Given the description of an element on the screen output the (x, y) to click on. 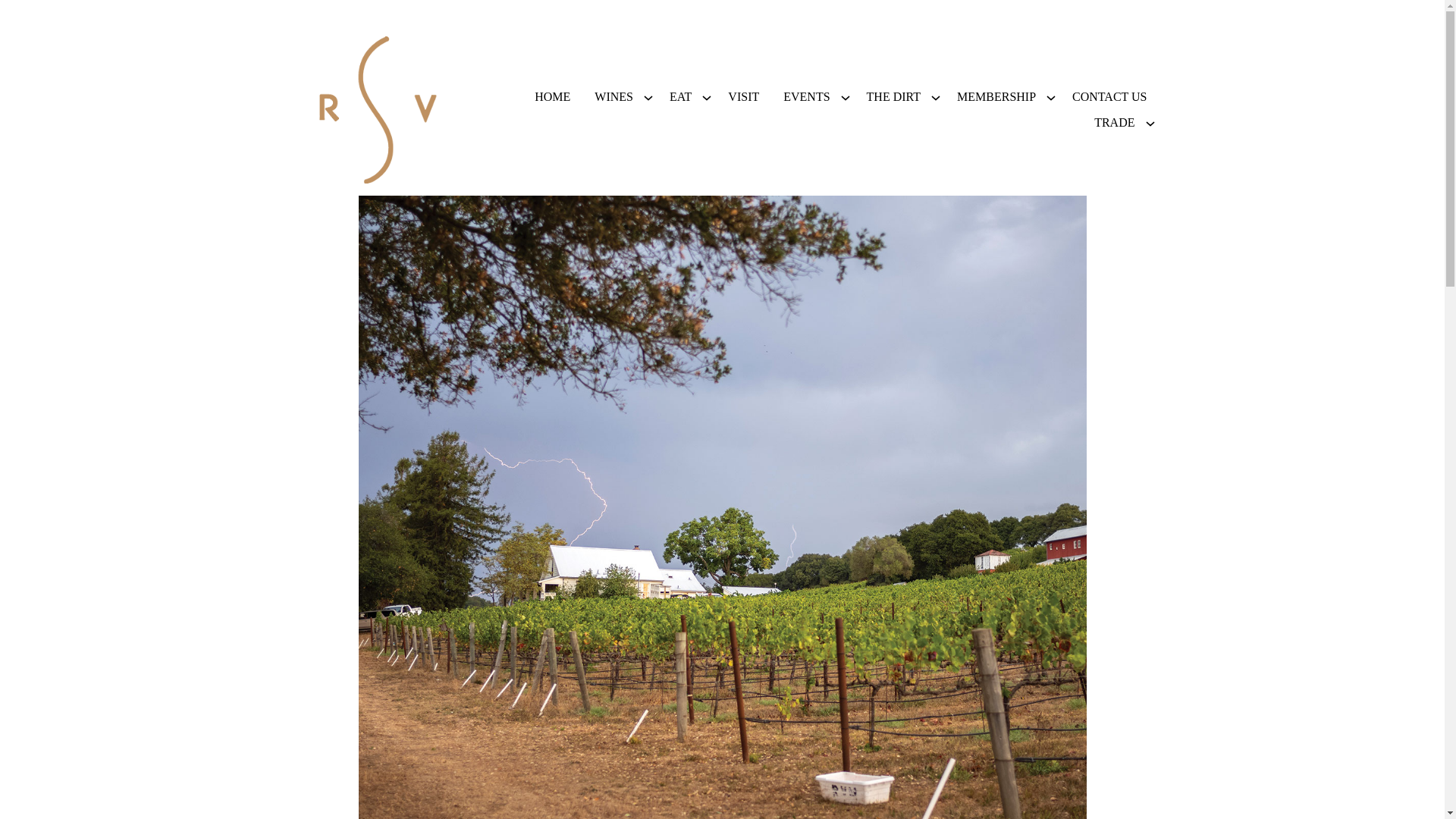
MEMBERSHIP (996, 96)
WINES (613, 96)
VISIT (743, 96)
THE DIRT (893, 96)
EVENTS (806, 96)
EAT (680, 96)
HOME (552, 96)
